Given the description of an element on the screen output the (x, y) to click on. 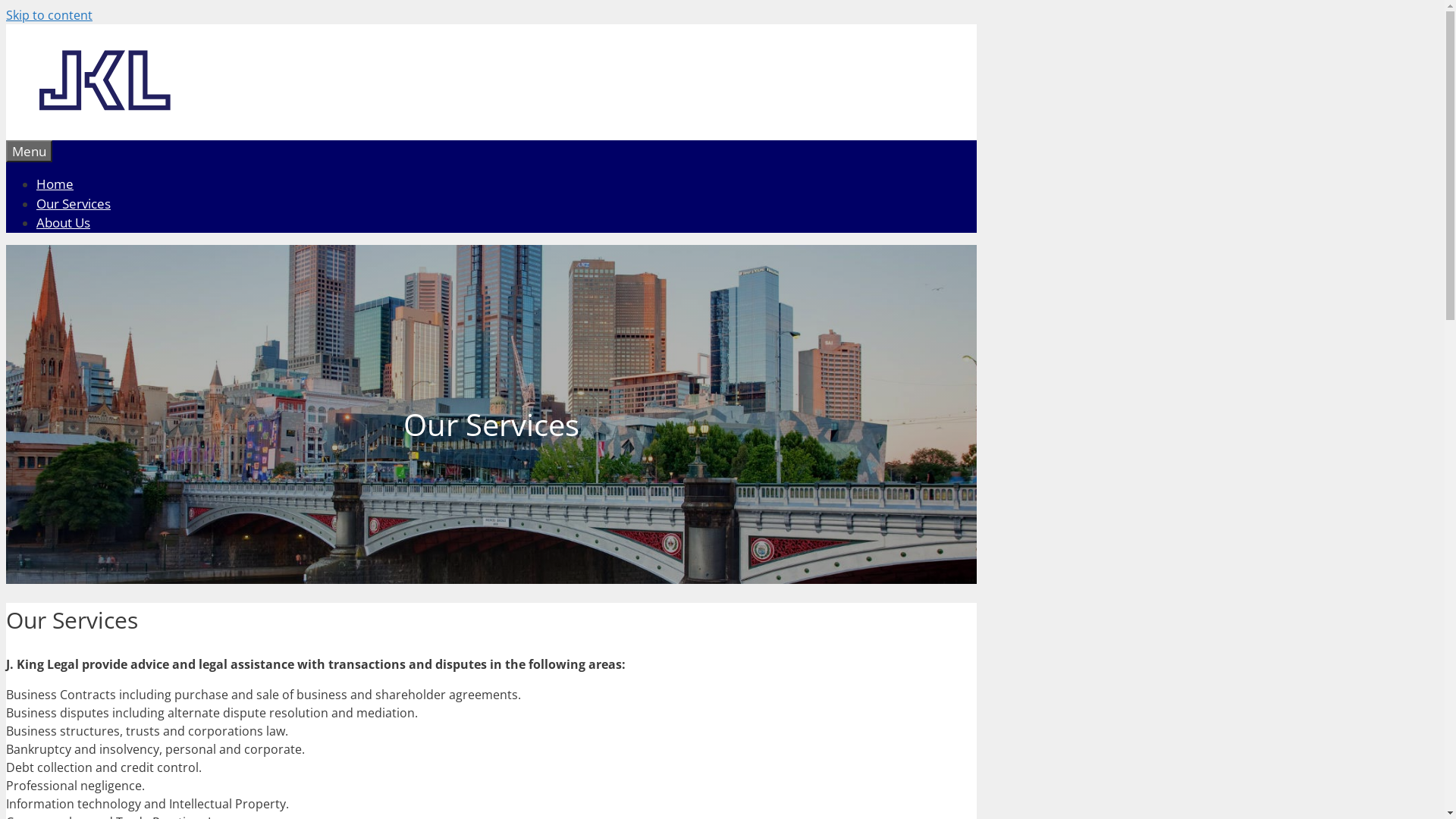
About Us Element type: text (63, 222)
Our Services Element type: text (73, 203)
Home Element type: text (54, 183)
Menu Element type: text (29, 151)
Skip to content Element type: text (49, 14)
